Given the description of an element on the screen output the (x, y) to click on. 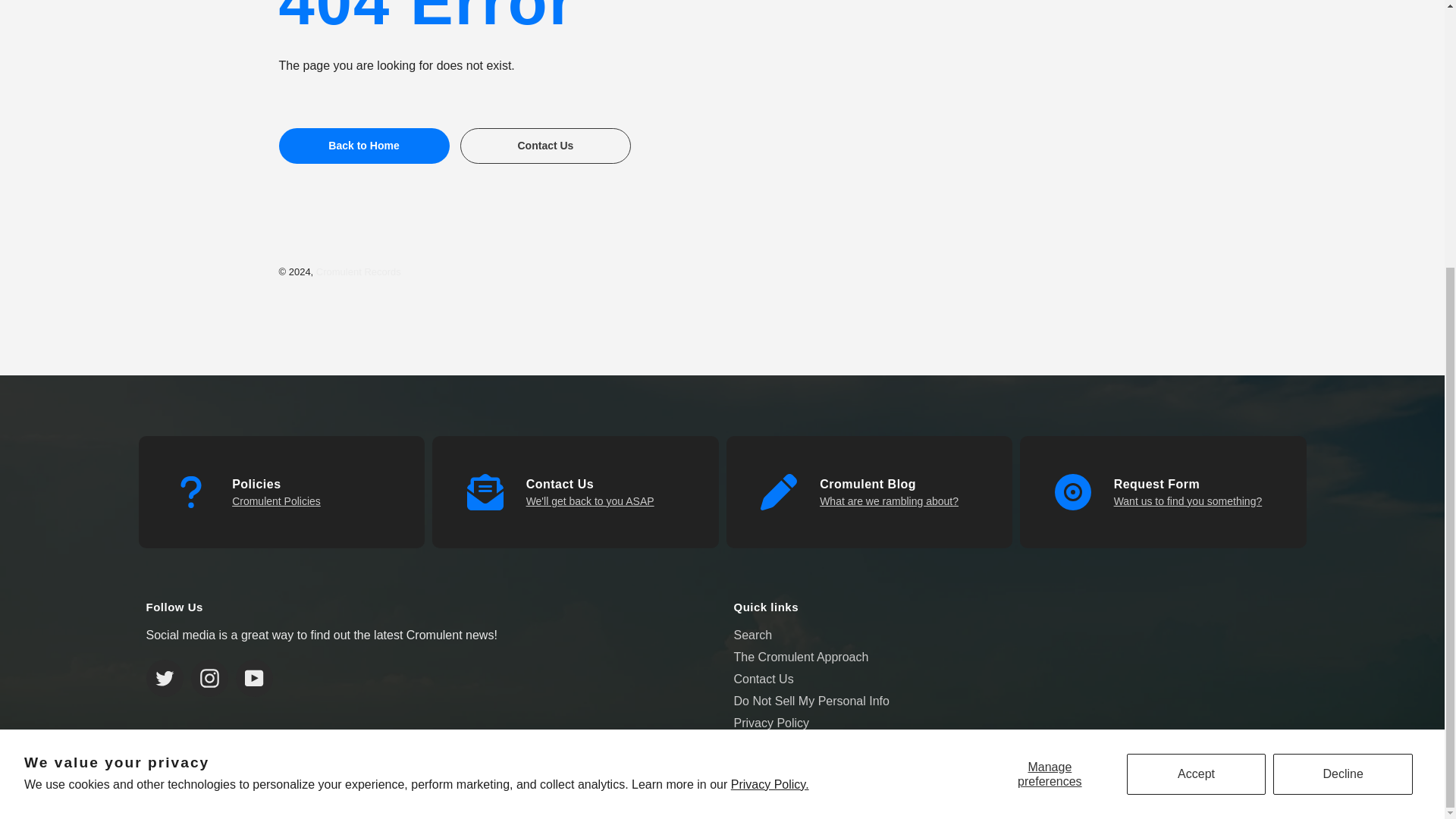
Cromulent Blog (888, 500)
Refund Policy (275, 500)
Accept (1196, 384)
Decline (1342, 384)
Contact Cromulent Records (589, 500)
Privacy Policy. (769, 395)
Manage preferences (1049, 384)
